Given the description of an element on the screen output the (x, y) to click on. 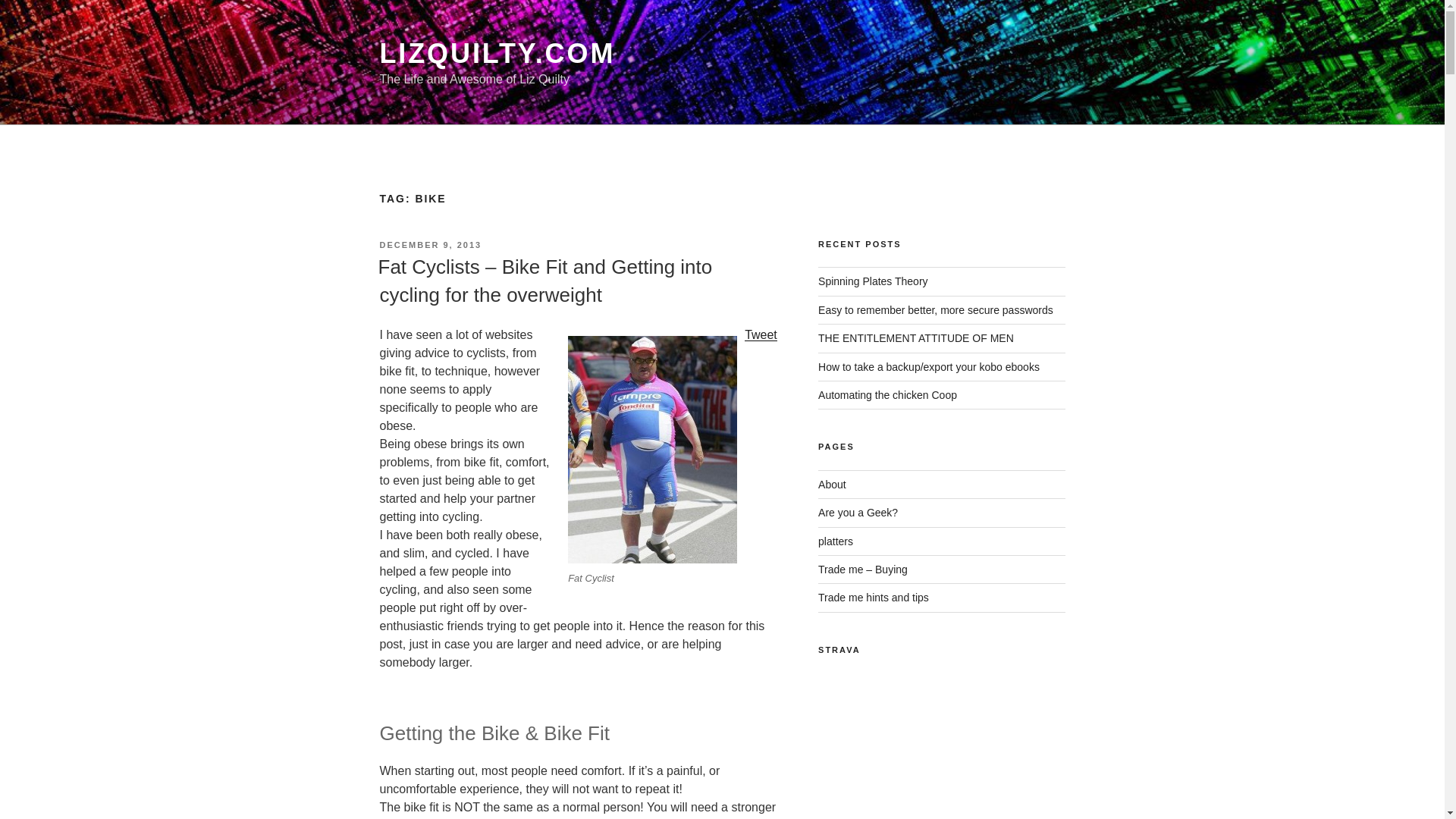
LIZQUILTY.COM (496, 52)
platters (835, 541)
THE ENTITLEMENT ATTITUDE OF MEN (915, 337)
Easy to remember better, more secure passwords (935, 309)
DECEMBER 9, 2013 (429, 244)
About (831, 484)
Automating the chicken Coop (887, 395)
Tweet (760, 334)
Spinning Plates Theory (873, 281)
Are you a Geek? (858, 512)
